Given the description of an element on the screen output the (x, y) to click on. 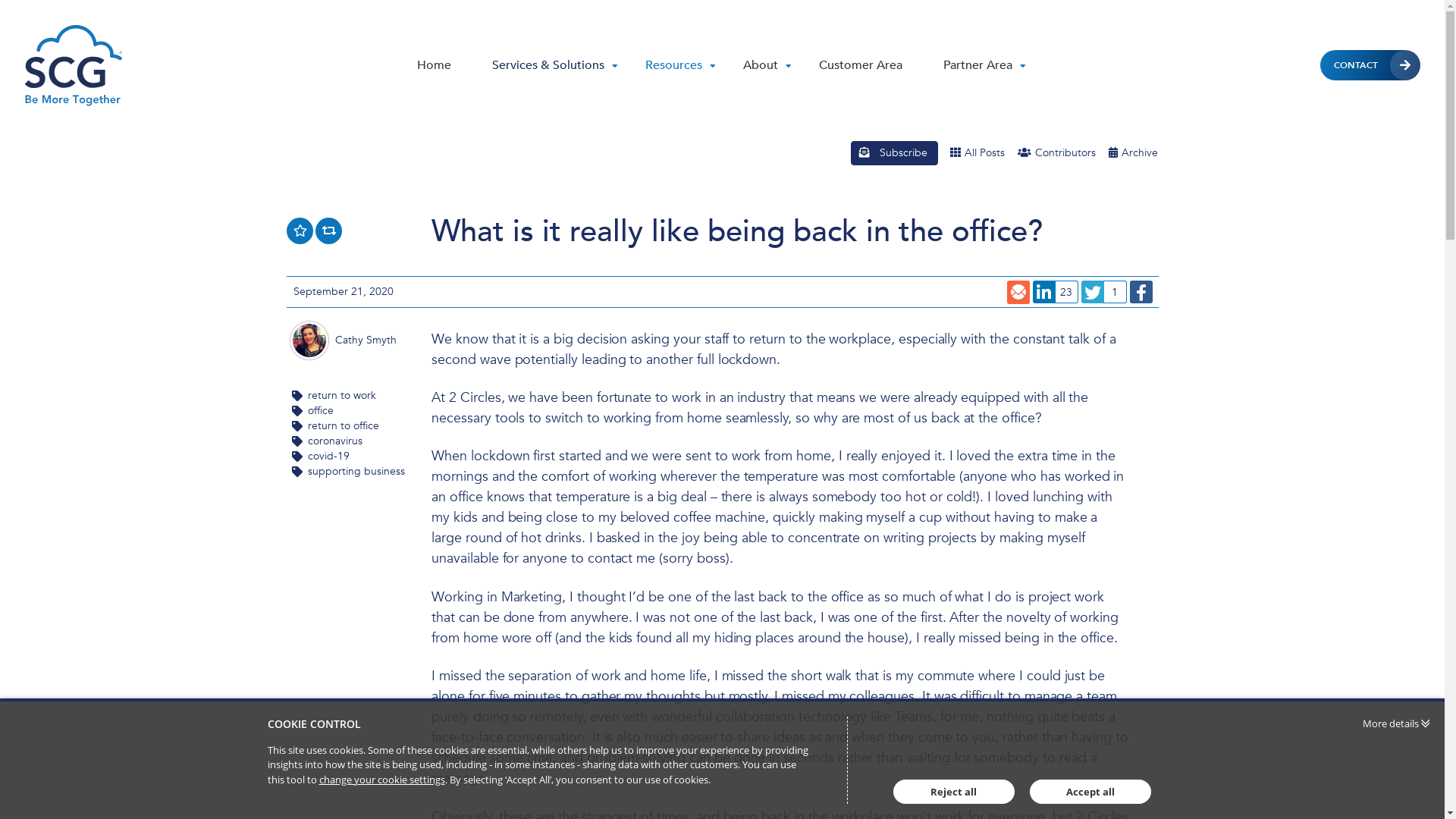
return to office Element type: text (343, 425)
Facebook Element type: hover (1140, 292)
Email Element type: hover (1018, 291)
return to work Element type: text (341, 395)
Repost Element type: hover (328, 230)
Reject all Element type: text (953, 791)
supporting business Element type: text (355, 471)
About Element type: text (767, 64)
Home Element type: text (434, 64)
Partner Area Element type: text (984, 64)
Twitter Element type: hover (1092, 292)
covid-19 Element type: text (328, 456)
change your cookie settings Element type: text (381, 778)
Contributors Element type: text (1055, 153)
office Element type: text (320, 410)
Like Element type: hover (299, 230)
CONTACT Element type: text (1370, 65)
LinkedIn Element type: hover (1043, 292)
All Posts Element type: text (977, 153)
Services & Solutions Element type: text (555, 64)
More details Element type: text (1395, 723)
Subscribe Element type: text (894, 153)
Resources Element type: text (680, 64)
coronavirus Element type: text (334, 440)
Archive Element type: text (1132, 153)
Accept all Element type: text (1090, 791)
Cathy Smyth Element type: text (365, 339)
Customer Area Element type: text (860, 64)
